Given the description of an element on the screen output the (x, y) to click on. 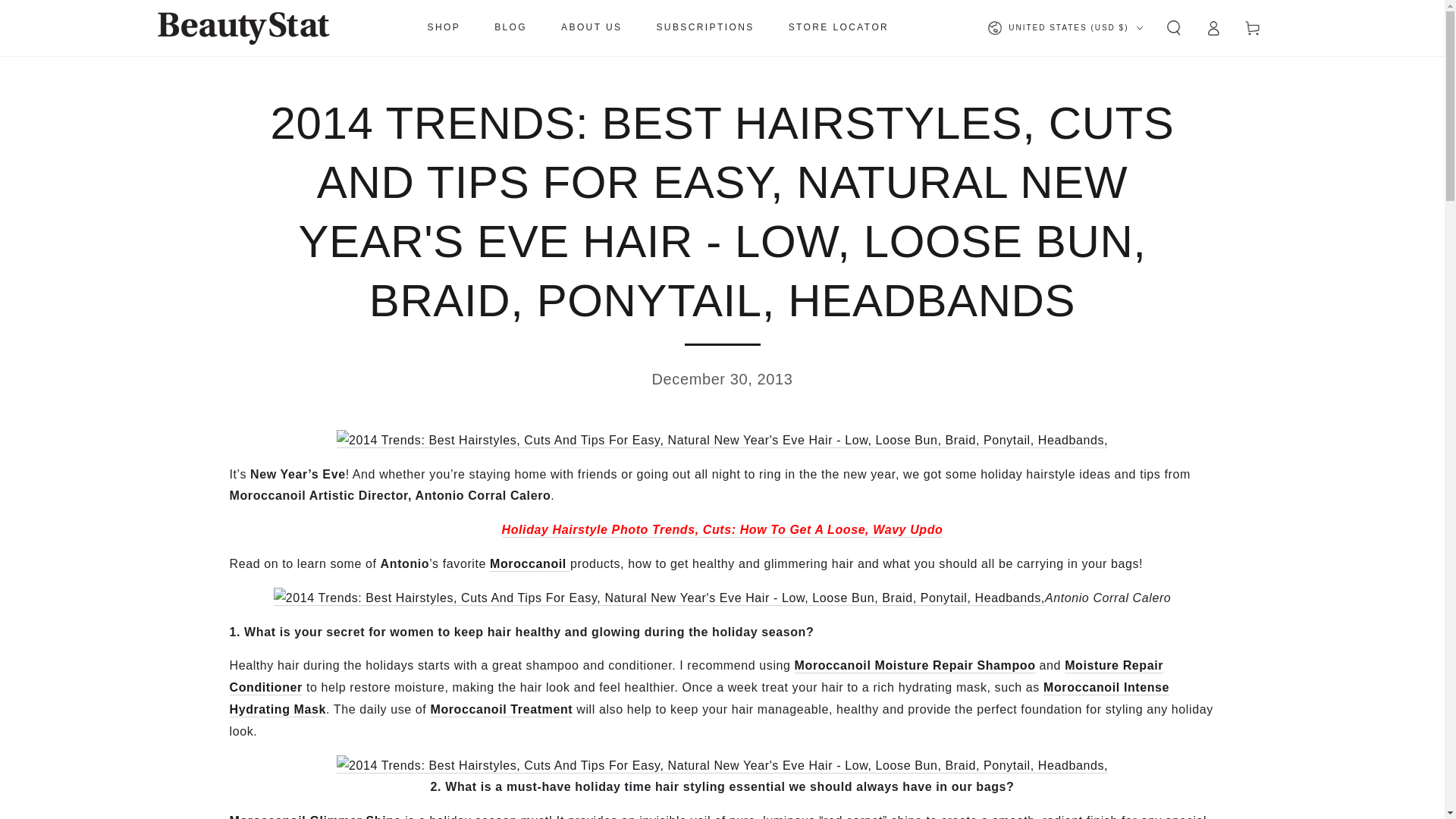
SKIP TO CONTENT (67, 14)
SHOP (443, 27)
